Given the description of an element on the screen output the (x, y) to click on. 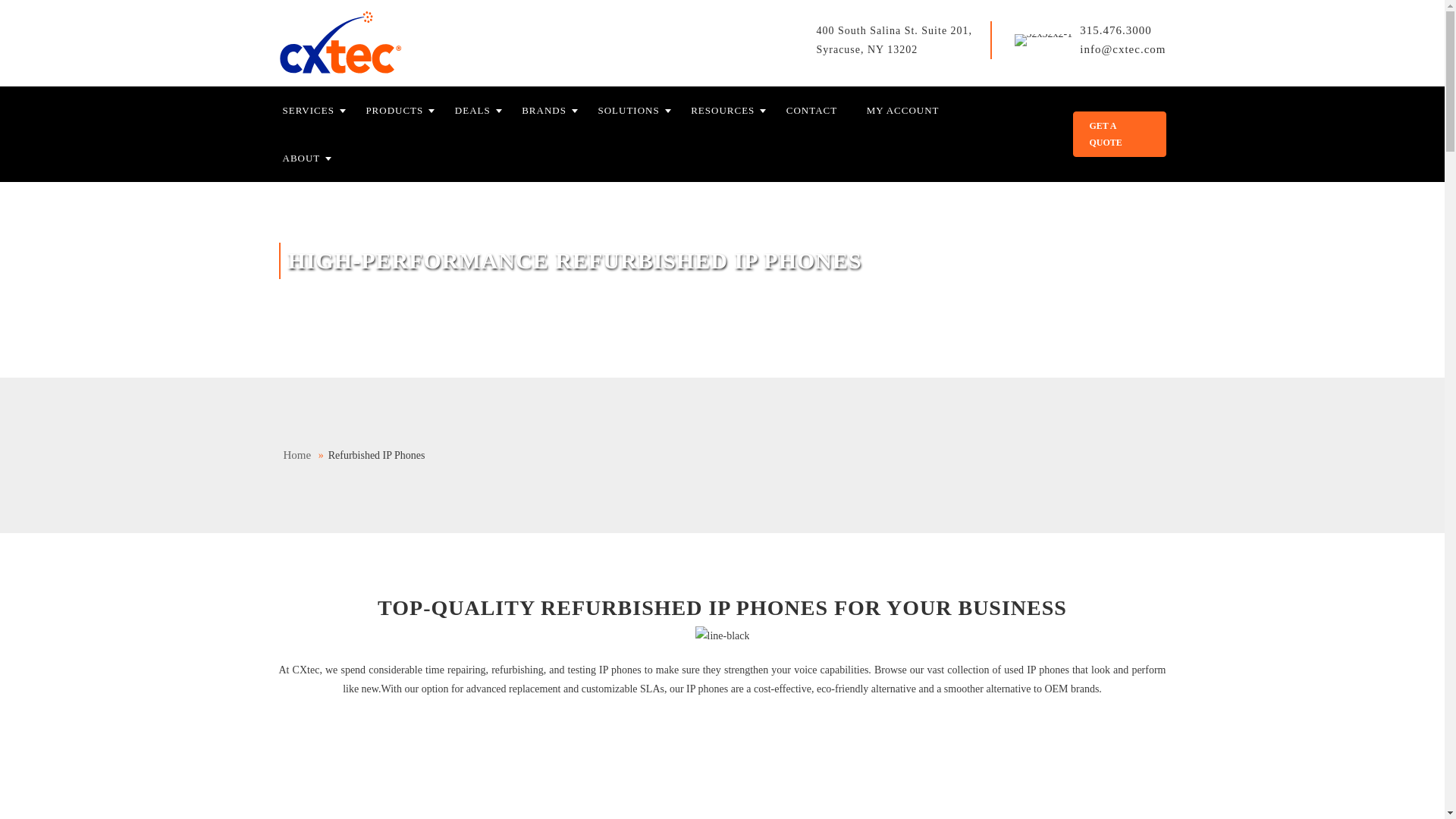
BRANDS (553, 110)
315.476.3000 (1115, 30)
PRODUCTS (403, 110)
DEALS (482, 110)
Cxtec Logo (341, 43)
SERVICES (317, 110)
